Given the description of an element on the screen output the (x, y) to click on. 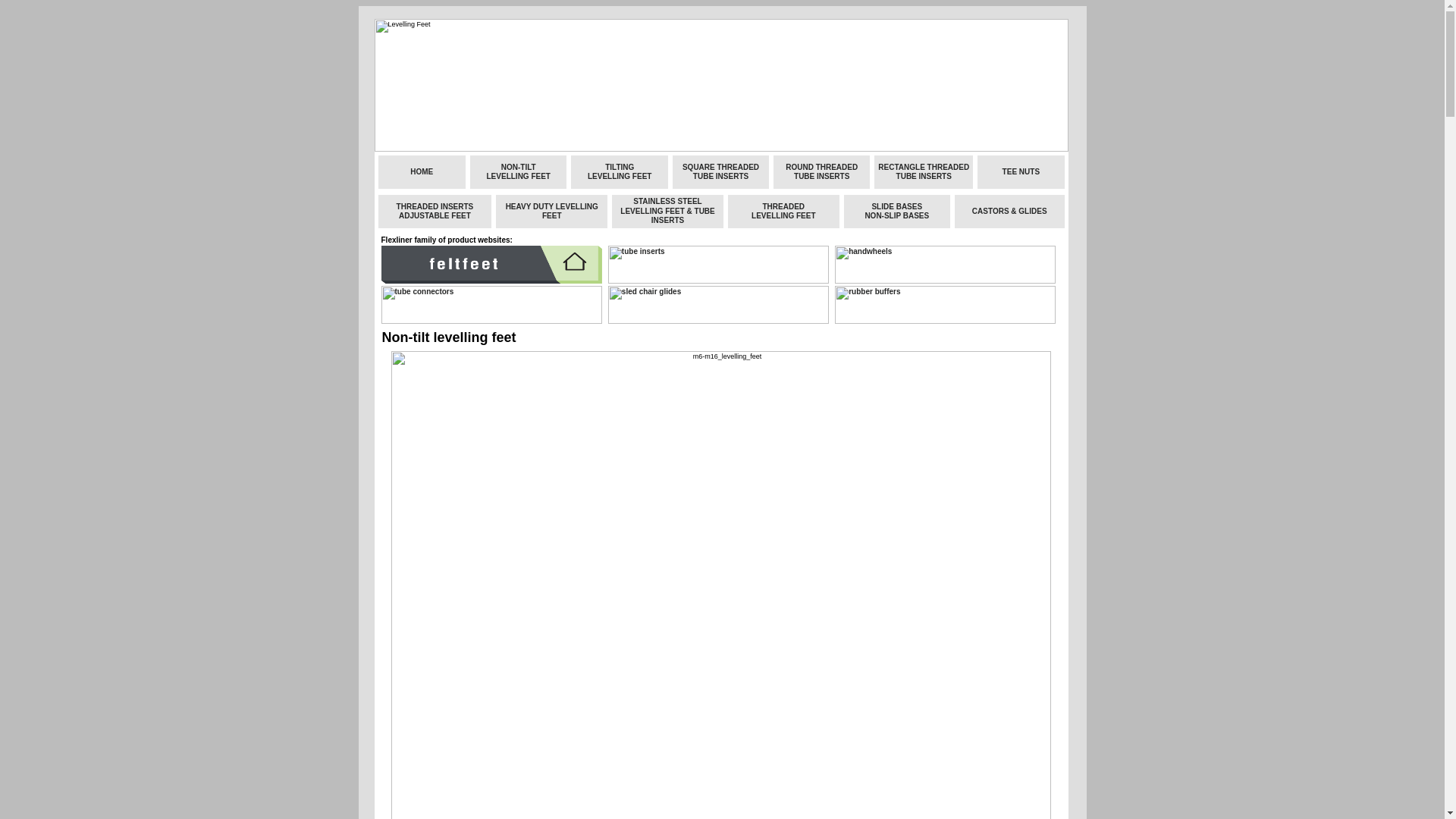
THREADED
LEVELLING FEET Element type: text (783, 210)
HOME Element type: text (421, 171)
HEAVY DUTY LEVELLING FEET Element type: text (551, 210)
CASTORS & GLIDES Element type: text (1009, 211)
TILTING
LEVELLING FEET Element type: text (619, 171)
NON-TILT
LEVELLING FEET Element type: text (518, 171)
RECTANGLE THREADED
TUBE INSERTS Element type: text (923, 171)
TEE NUTS Element type: text (1020, 171)
ROUND THREADED
TUBE INSERTS Element type: text (821, 171)
THREADED INSERTS
ADJUSTABLE FEET Element type: text (434, 210)
SLIDE BASES
NON-SLIP BASES Element type: text (896, 210)
SQUARE THREADED
TUBE INSERTS Element type: text (720, 171)
STAINLESS STEEL LEVELLING FEET & TUBE INSERTS Element type: text (667, 210)
